Given the description of an element on the screen output the (x, y) to click on. 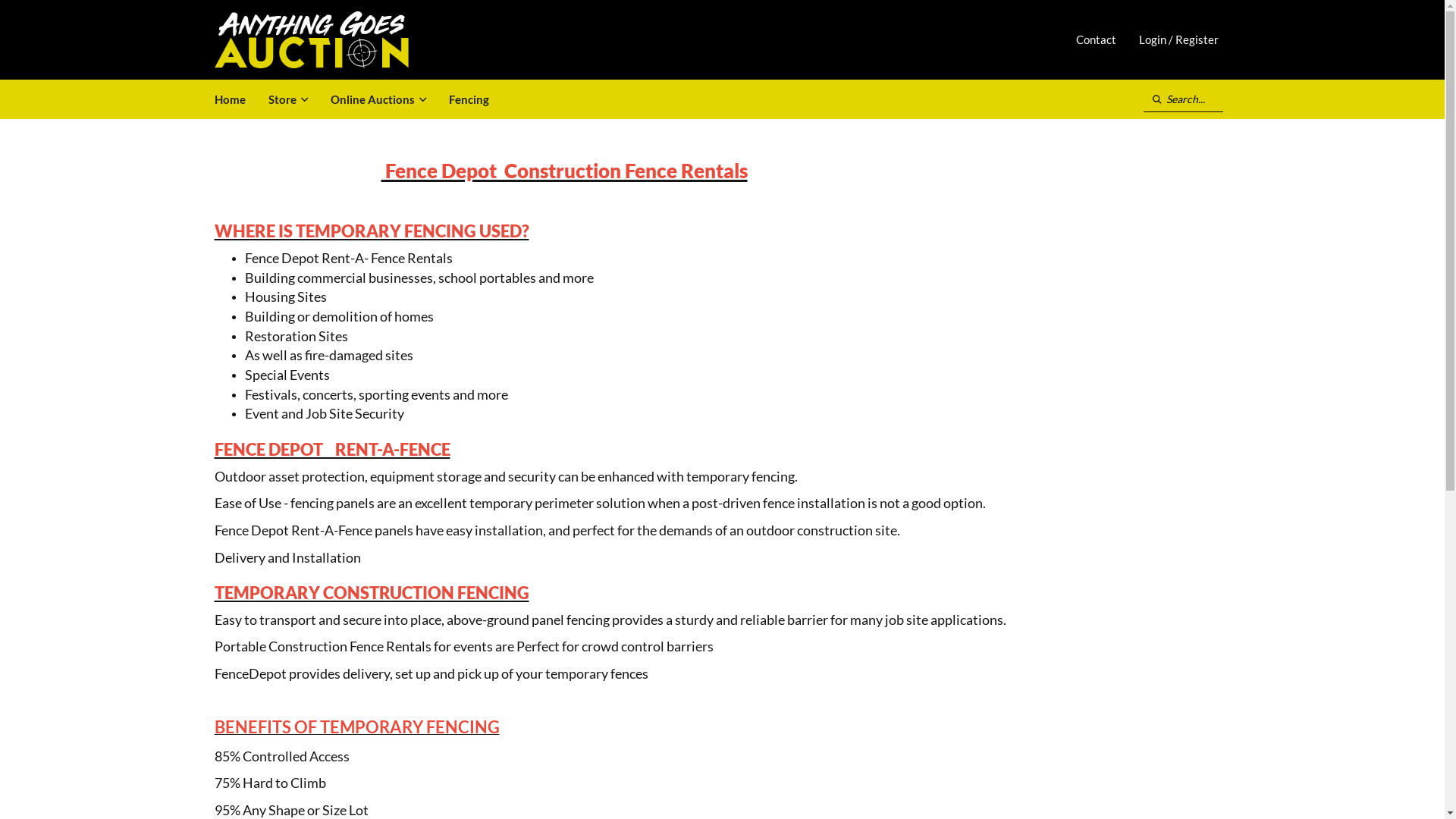
Fencing Element type: text (467, 99)
Login / Register Element type: text (1178, 39)
Online Auctions   Element type: text (377, 99)
Store   Element type: text (287, 99)
Contact Element type: text (1095, 39)
Home Element type: text (230, 99)
